Given the description of an element on the screen output the (x, y) to click on. 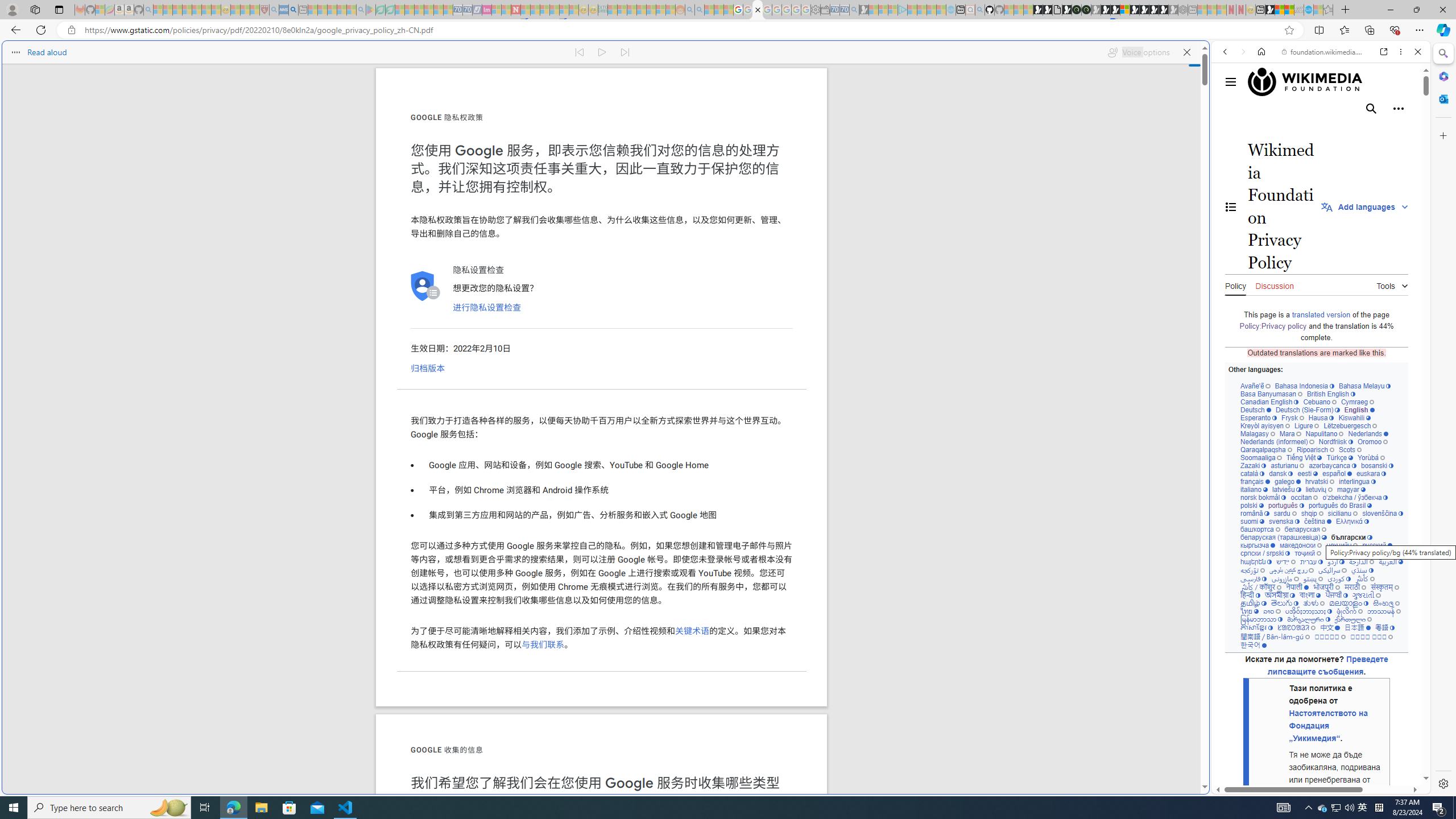
Soomaaliga (1260, 456)
Deutsch (Sie-Form) (1307, 409)
svenska (1284, 520)
italiano (1254, 488)
Napulitano (1323, 433)
Personal tools (1398, 108)
Qaraqalpaqsha (1266, 449)
Scots (1350, 449)
